Given the description of an element on the screen output the (x, y) to click on. 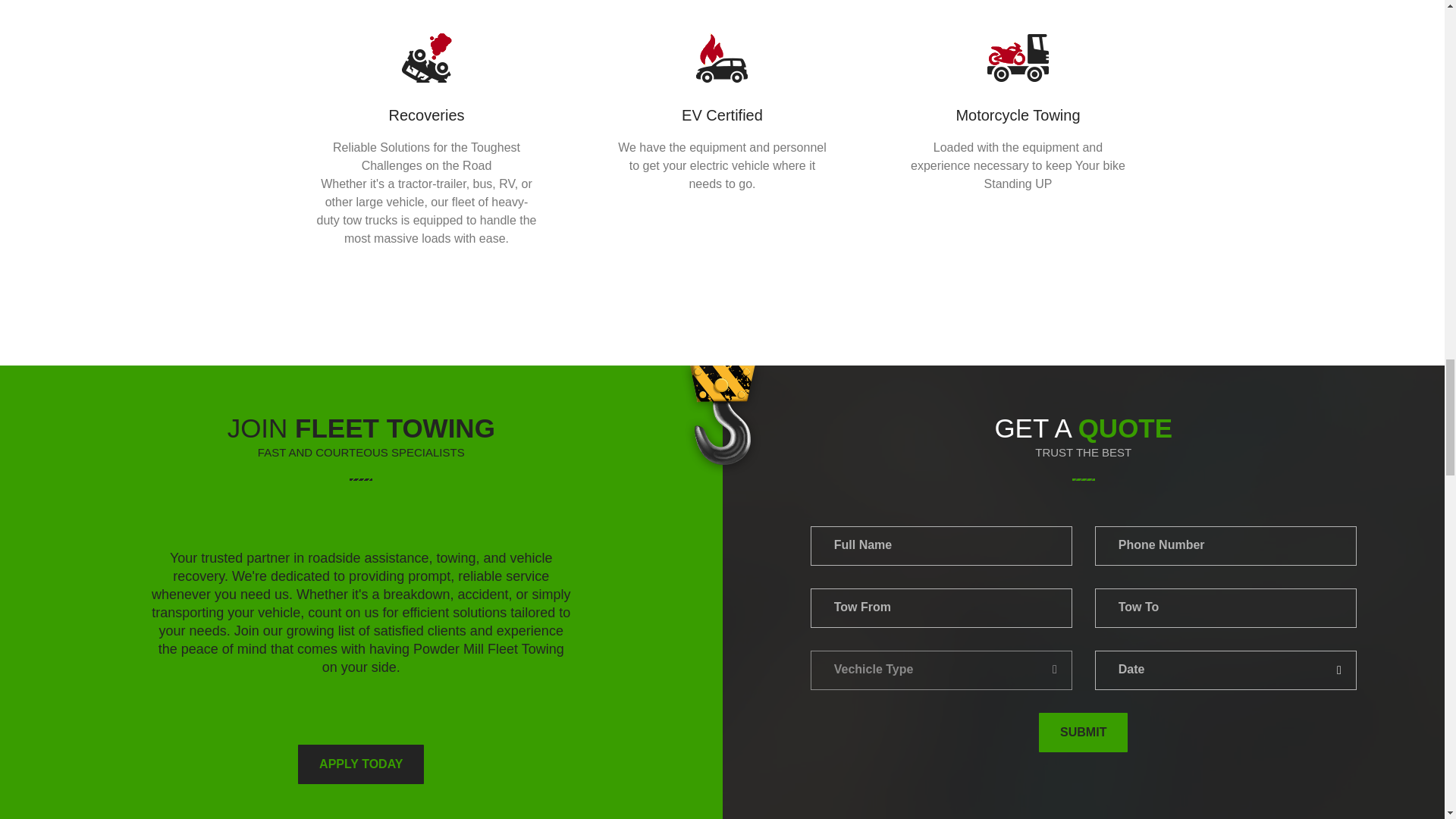
Recoveries (426, 115)
EV Certified (721, 115)
Motorcycle Towing (1017, 115)
SUBMIT (1082, 732)
Motorcycle Towing (1017, 115)
APPLY TODAY (360, 763)
Recoveries (426, 115)
Apply For Fleet Towing (360, 763)
EV Certified (721, 115)
